Given the description of an element on the screen output the (x, y) to click on. 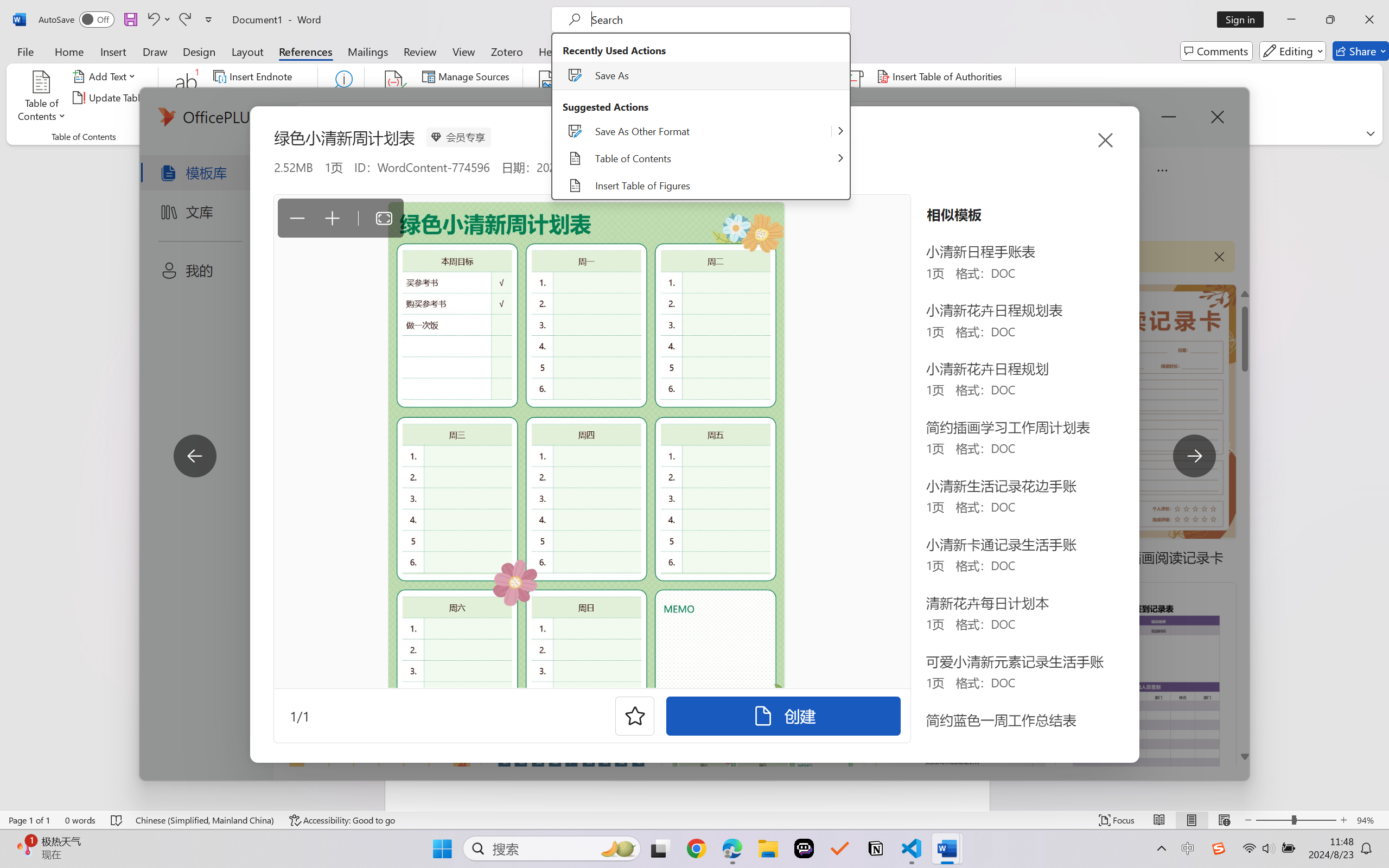
Insert Footnote (186, 97)
Undo Apply Quick Style Set (152, 19)
Bibliography (463, 118)
Insert Caption... (547, 97)
Mark Citation... (852, 97)
Undo Apply Quick Style Set (158, 19)
Save As Other Format (841, 131)
